Given the description of an element on the screen output the (x, y) to click on. 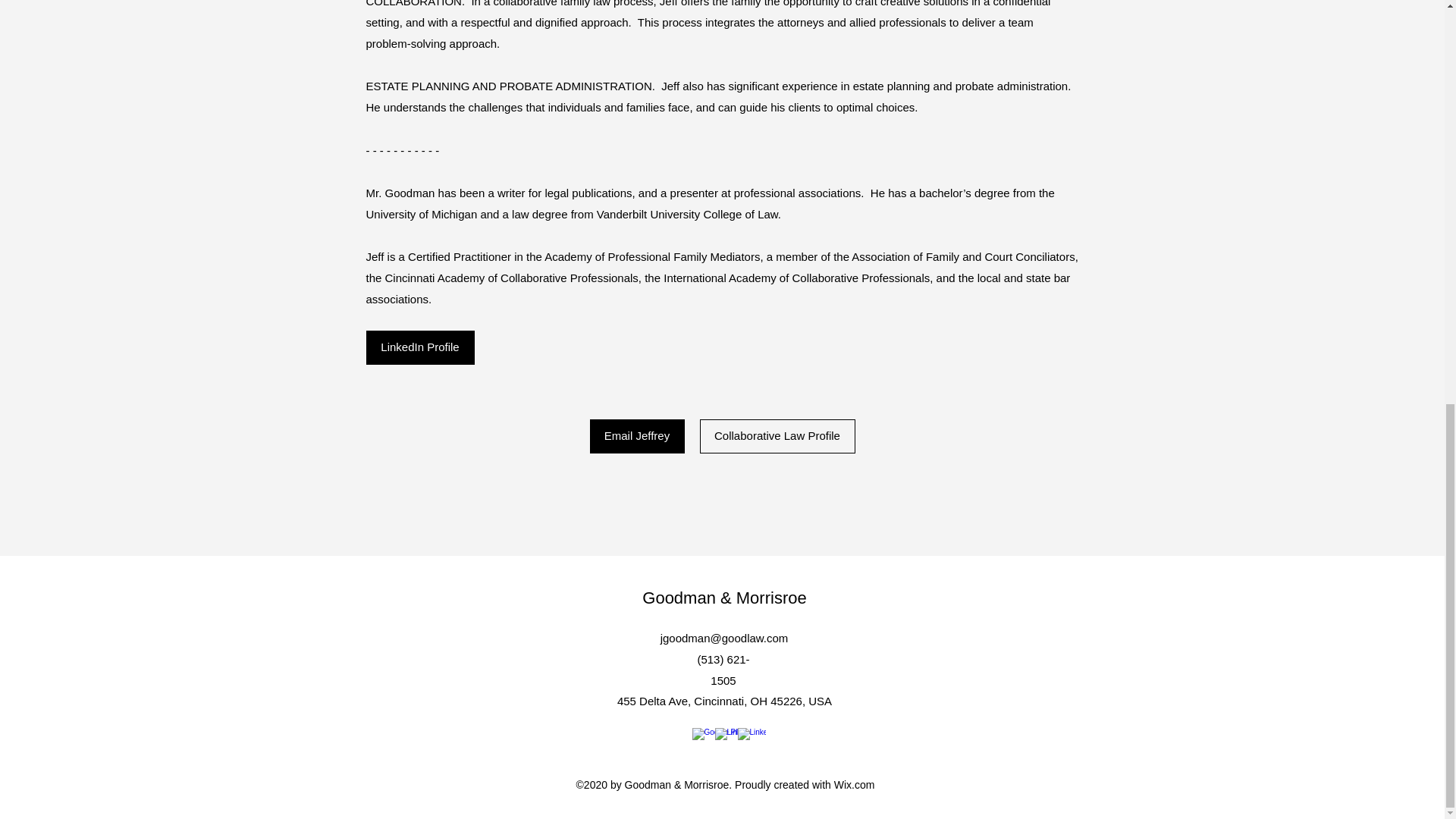
Collaborative Law Profile (776, 436)
LinkedIn Profile (419, 346)
Email Jeffrey (636, 436)
